Given the description of an element on the screen output the (x, y) to click on. 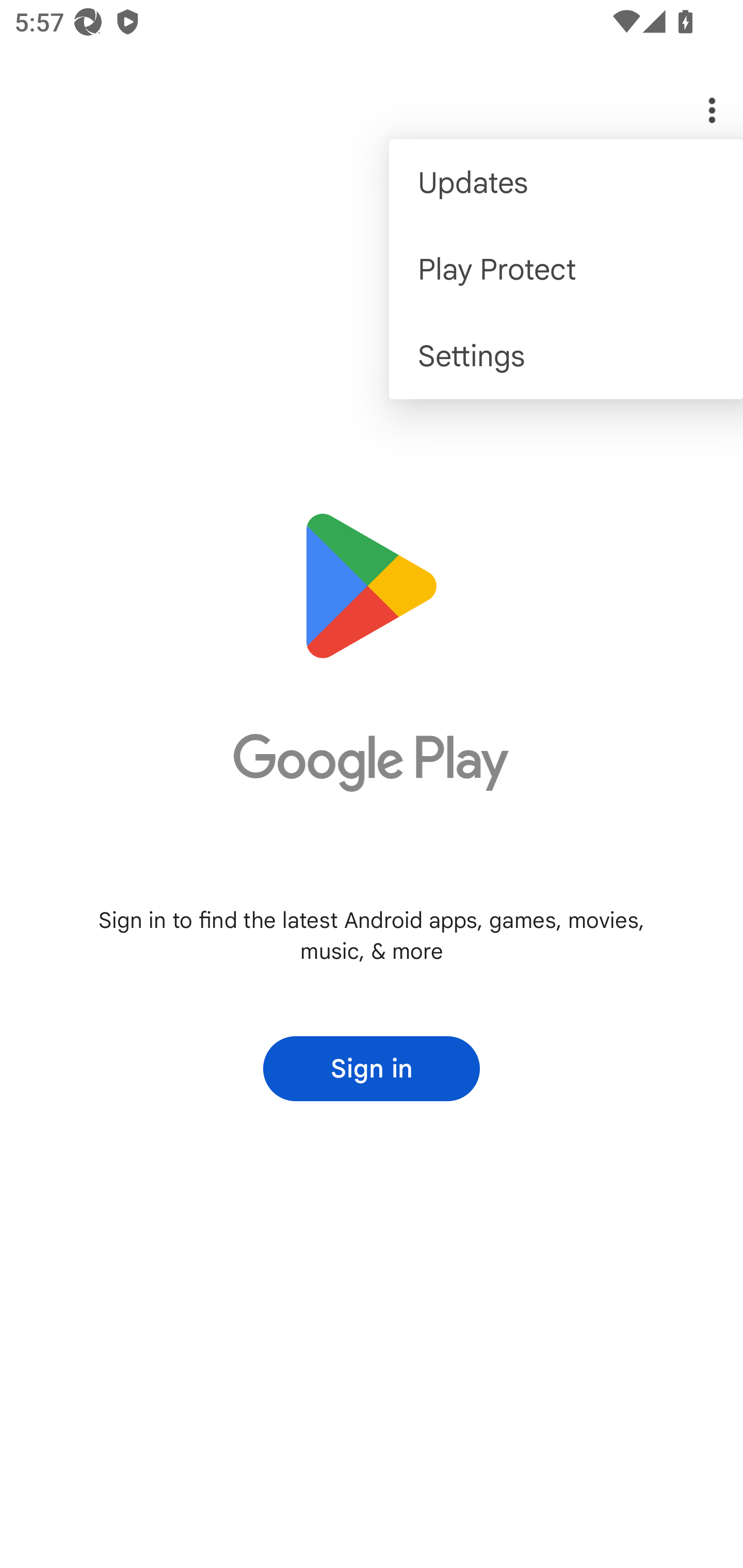
Updates (566, 182)
Play Protect (566, 268)
Settings (566, 355)
